Given the description of an element on the screen output the (x, y) to click on. 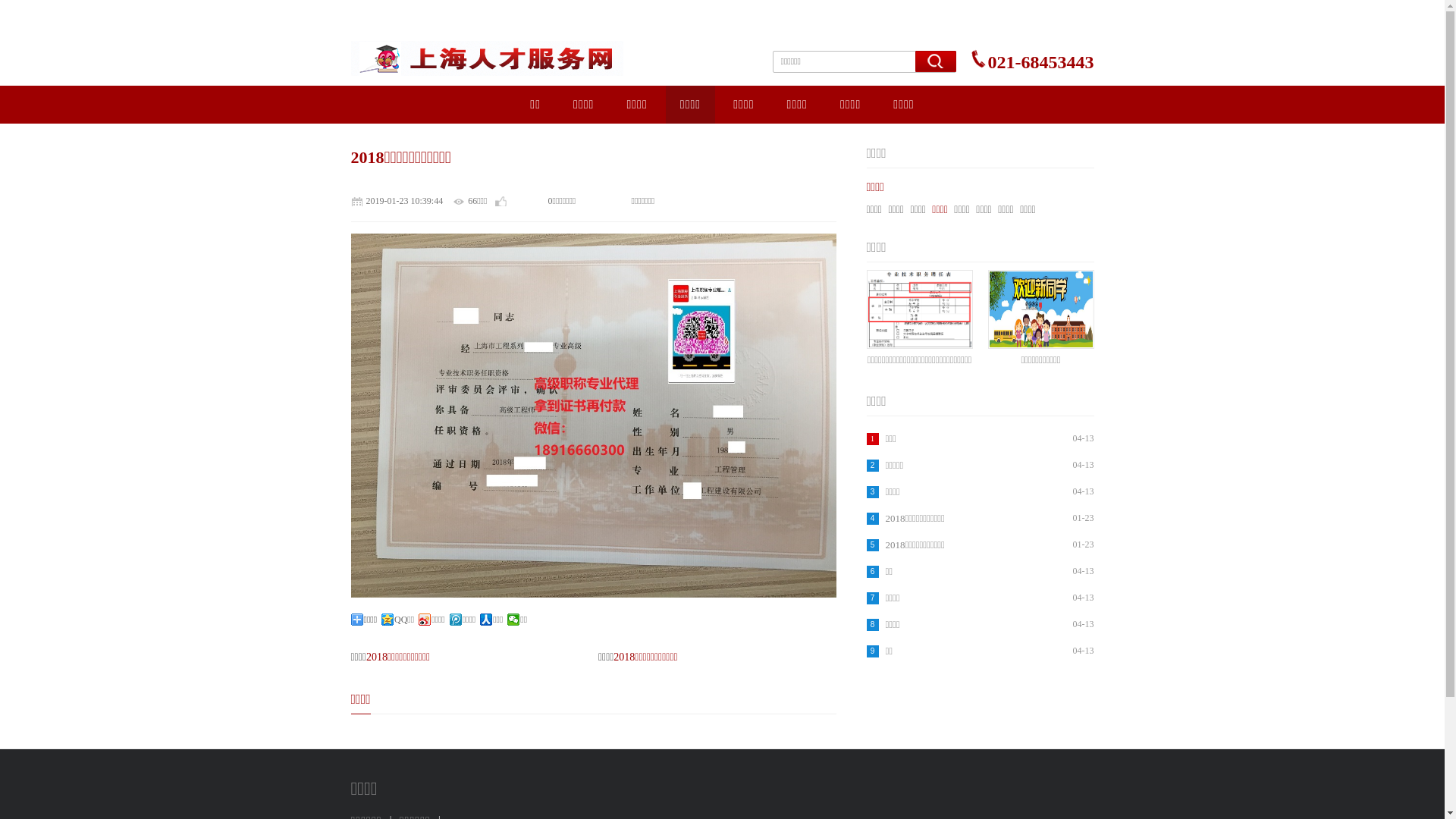
on Element type: text (4, 4)
